Given the description of an element on the screen output the (x, y) to click on. 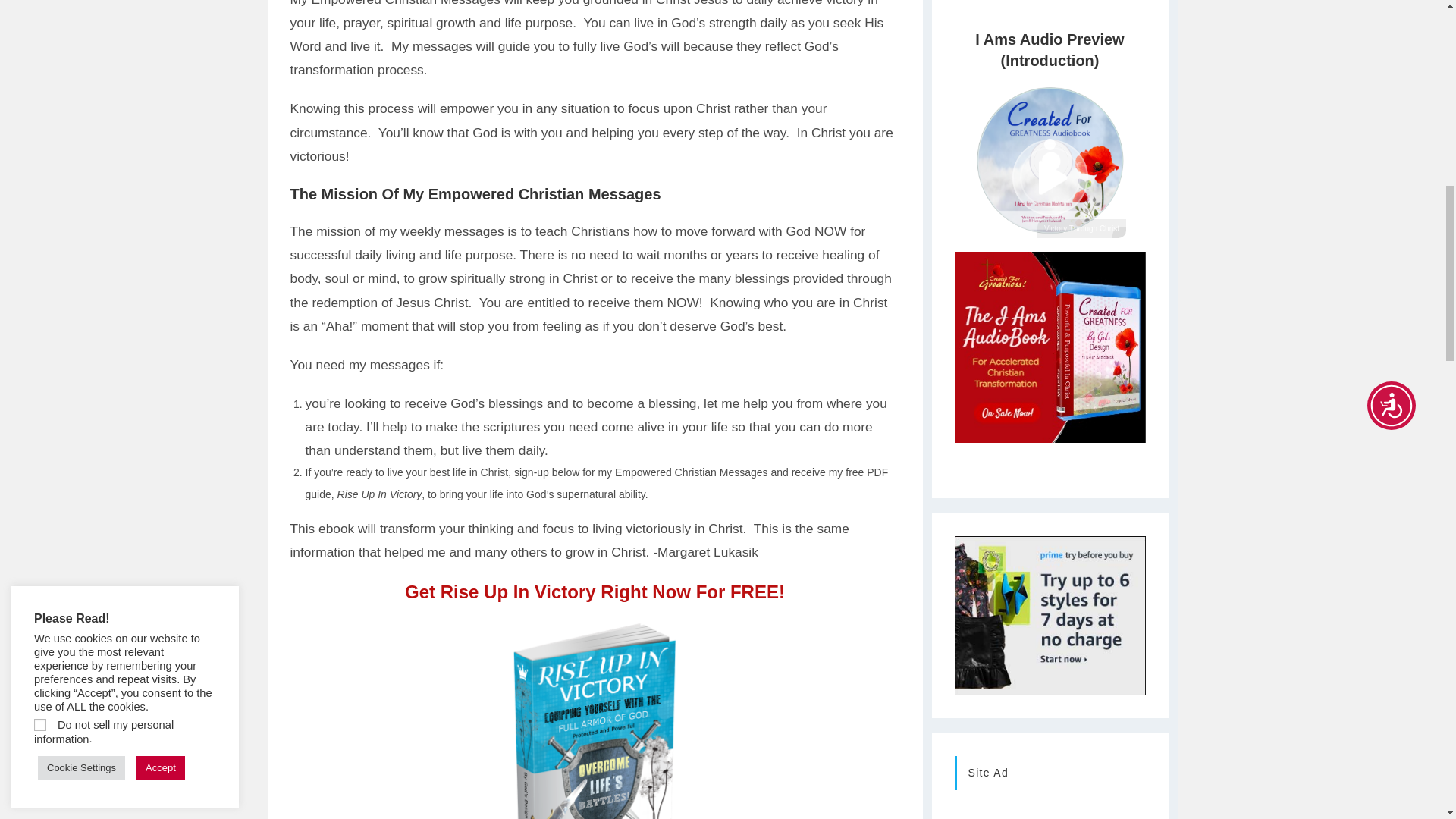
Advertisement (1094, 5)
